Given the description of an element on the screen output the (x, y) to click on. 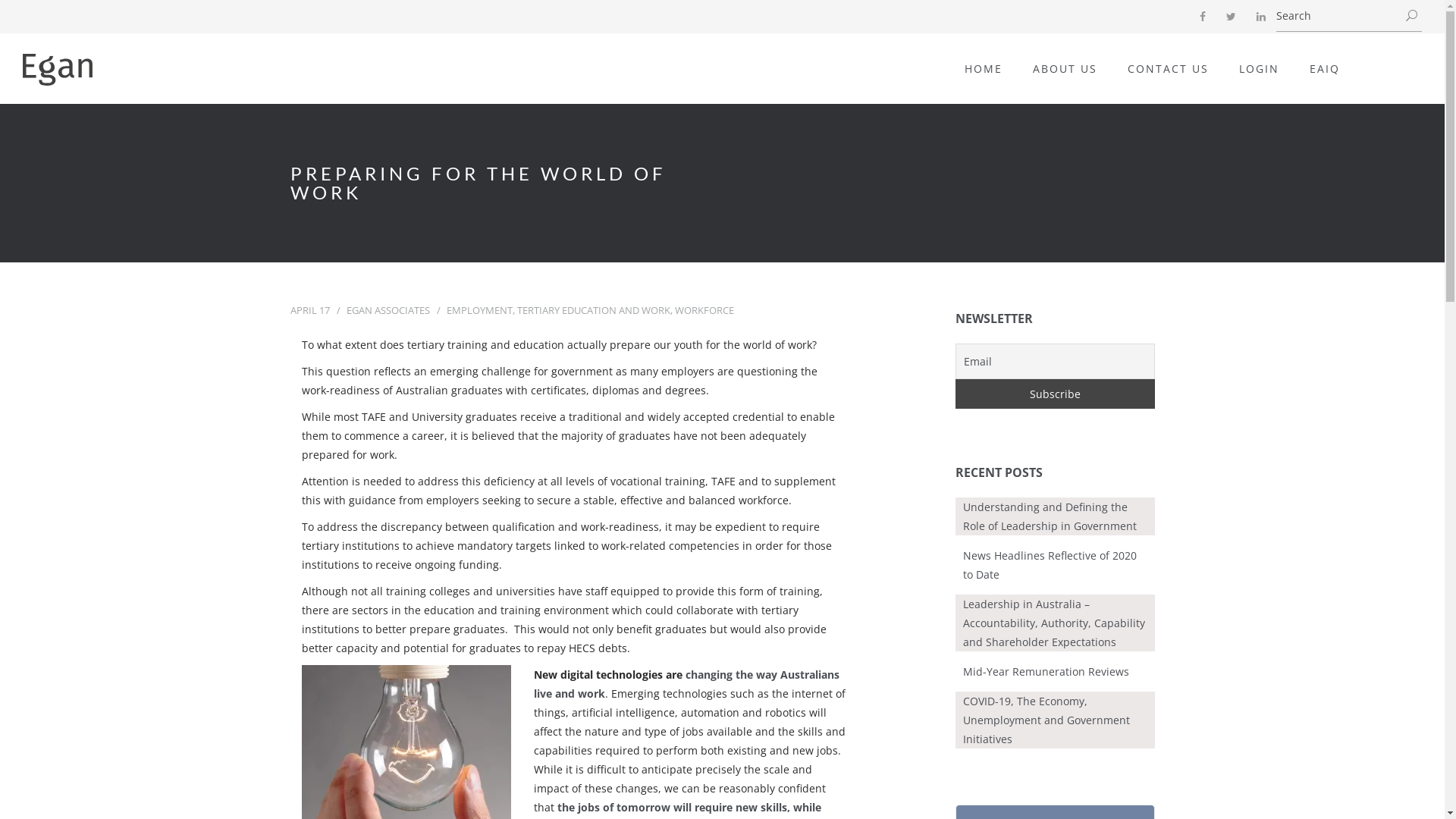
TERTIARY EDUCATION AND WORK Element type: text (593, 309)
EMPLOYMENT Element type: text (478, 309)
EAIQ Element type: text (1324, 68)
ABOUT US Element type: text (1064, 68)
WORKFORCE Element type: text (704, 309)
News Headlines Reflective of 2020 to Date Element type: text (1049, 564)
LOGIN Element type: text (1258, 68)
changing the way Australians live and work Element type: text (686, 683)
CONTACT US Element type: text (1167, 68)
Subscribe Element type: text (1054, 393)
EGAN ASSOCIATES Element type: text (387, 309)
Mid-Year Remuneration Reviews Element type: text (1046, 671)
HOME Element type: text (983, 68)
